Given the description of an element on the screen output the (x, y) to click on. 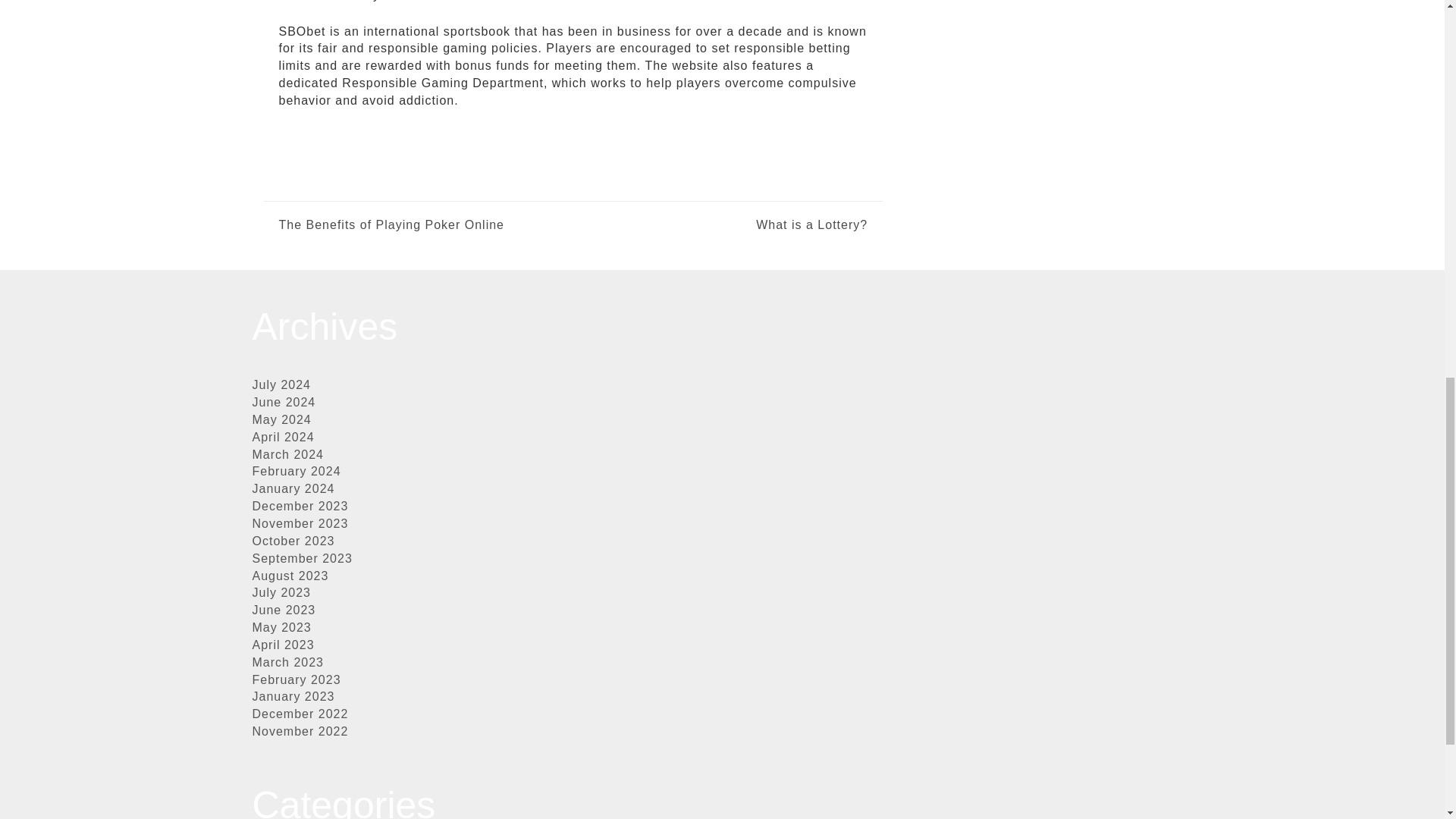
January 2024 (292, 488)
February 2023 (295, 679)
What is a Lottery? (720, 225)
June 2024 (283, 401)
November 2022 (299, 730)
November 2023 (299, 522)
October 2023 (292, 540)
January 2023 (292, 696)
December 2023 (299, 505)
April 2023 (282, 644)
May 2023 (281, 626)
August 2023 (290, 575)
March 2024 (287, 454)
February 2024 (295, 471)
March 2023 (287, 662)
